Given the description of an element on the screen output the (x, y) to click on. 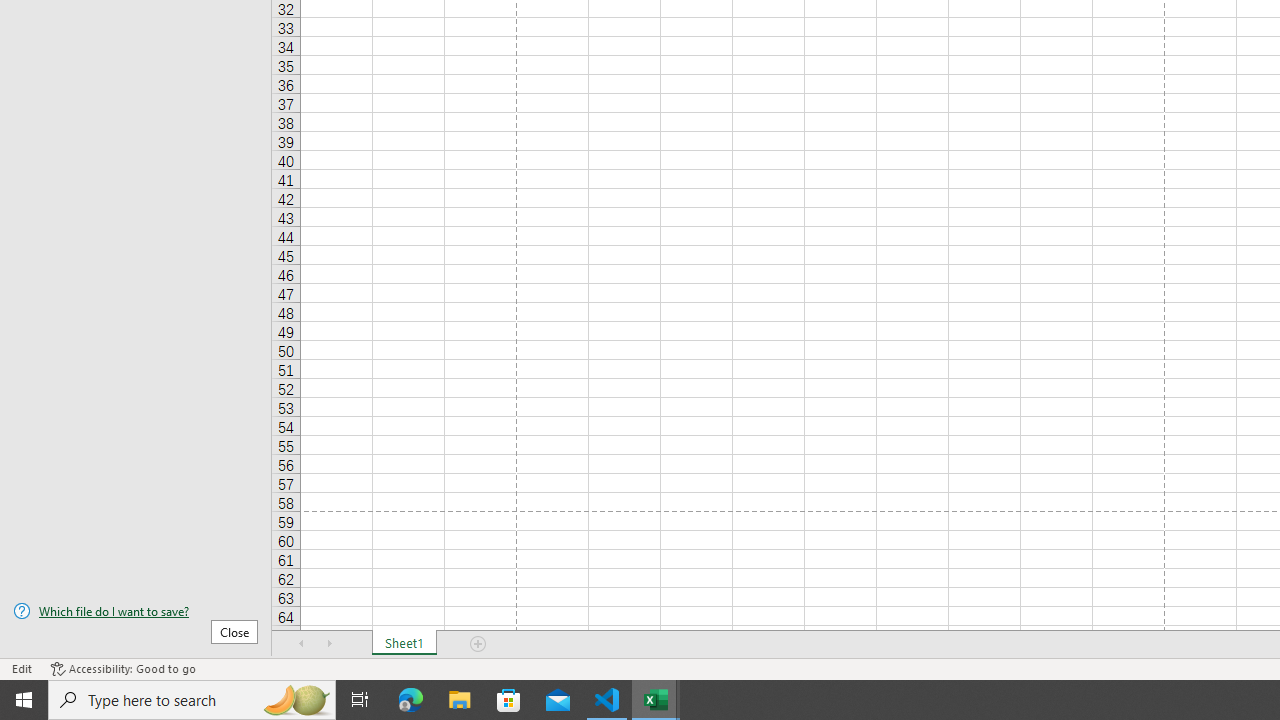
Which file do I want to save? (136, 611)
